Given the description of an element on the screen output the (x, y) to click on. 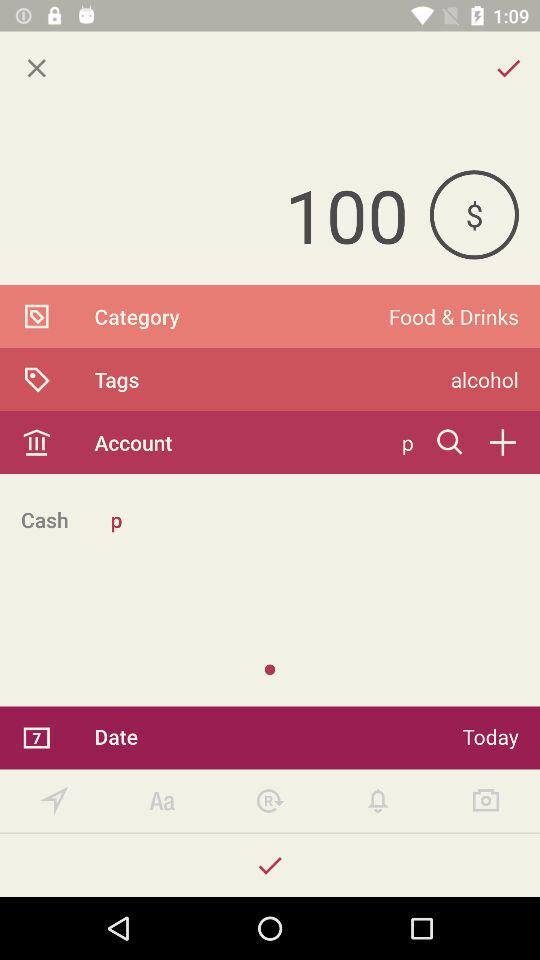
view notifications (378, 800)
